Given the description of an element on the screen output the (x, y) to click on. 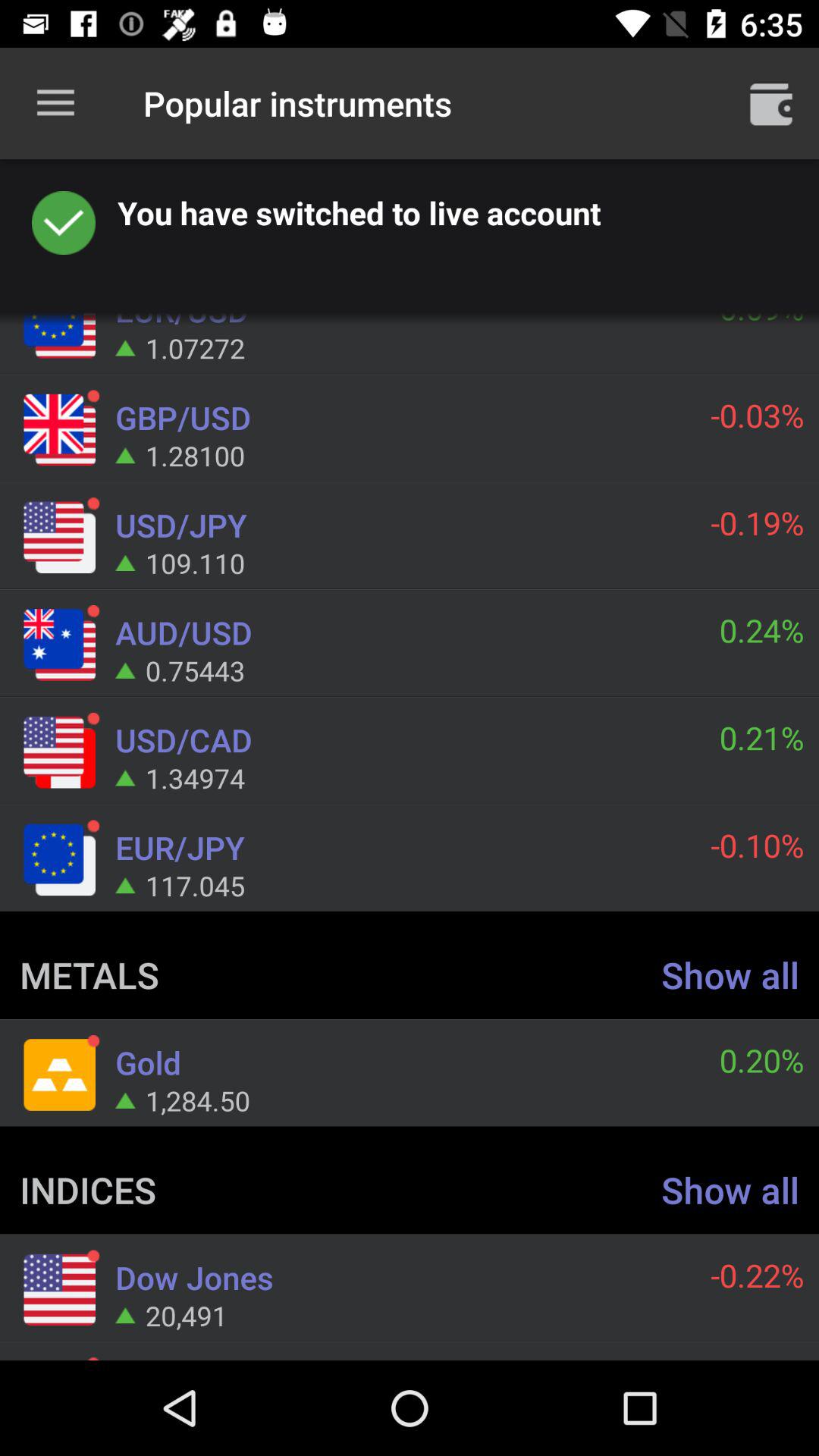
open trash (771, 103)
